Given the description of an element on the screen output the (x, y) to click on. 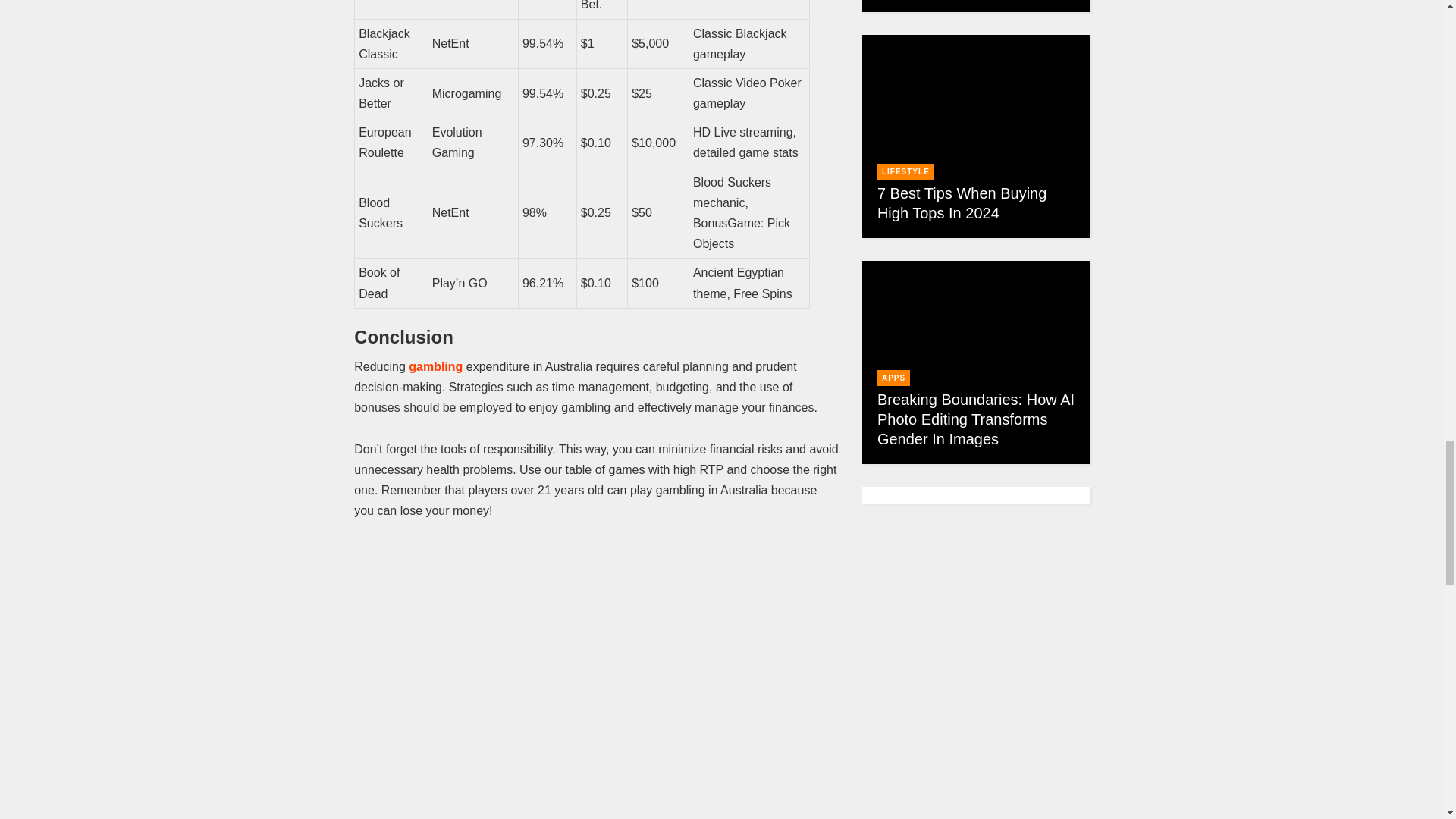
gambling (436, 366)
